Given the description of an element on the screen output the (x, y) to click on. 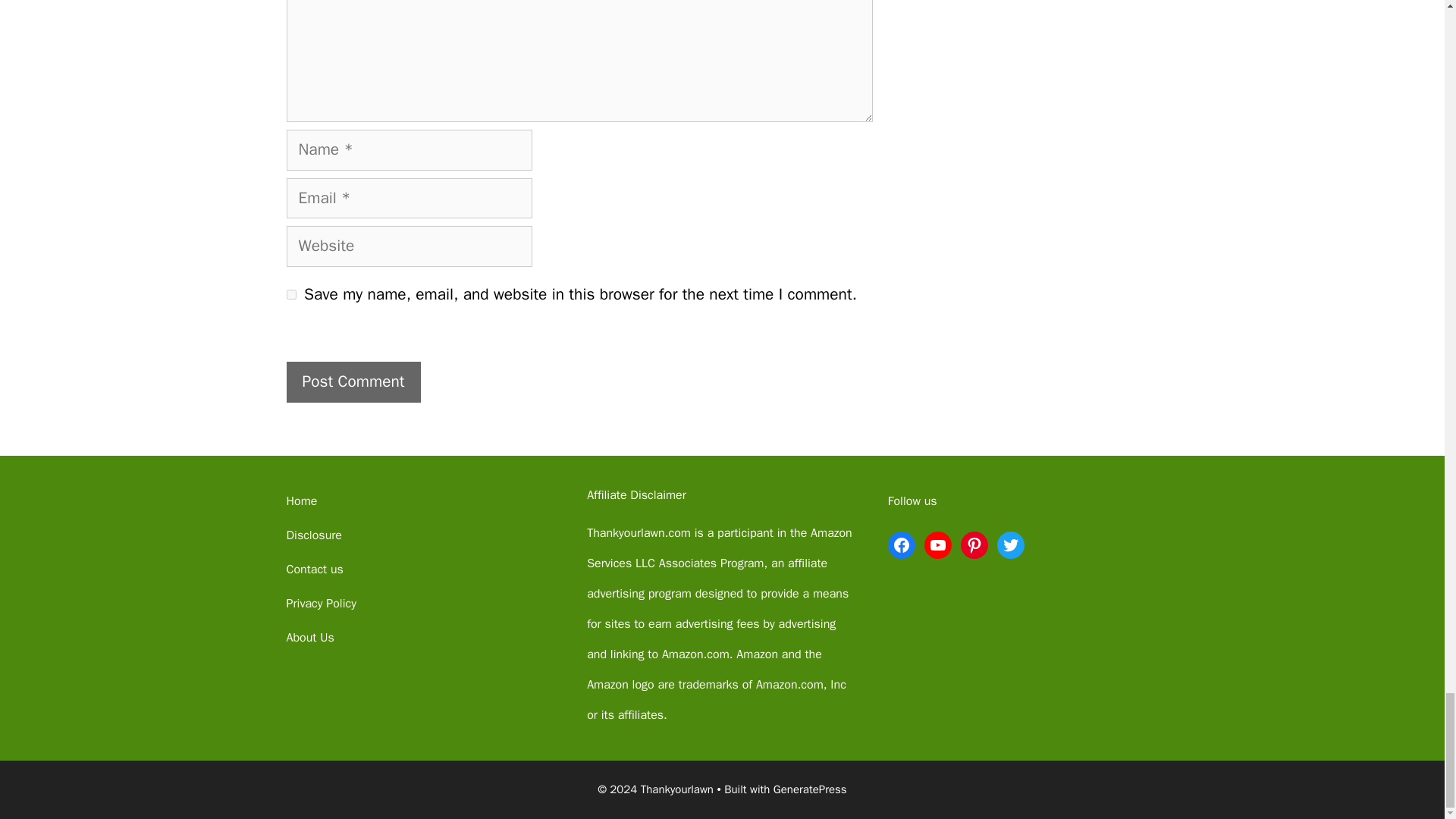
Post Comment (353, 381)
yes (291, 294)
Post Comment (353, 381)
